Given the description of an element on the screen output the (x, y) to click on. 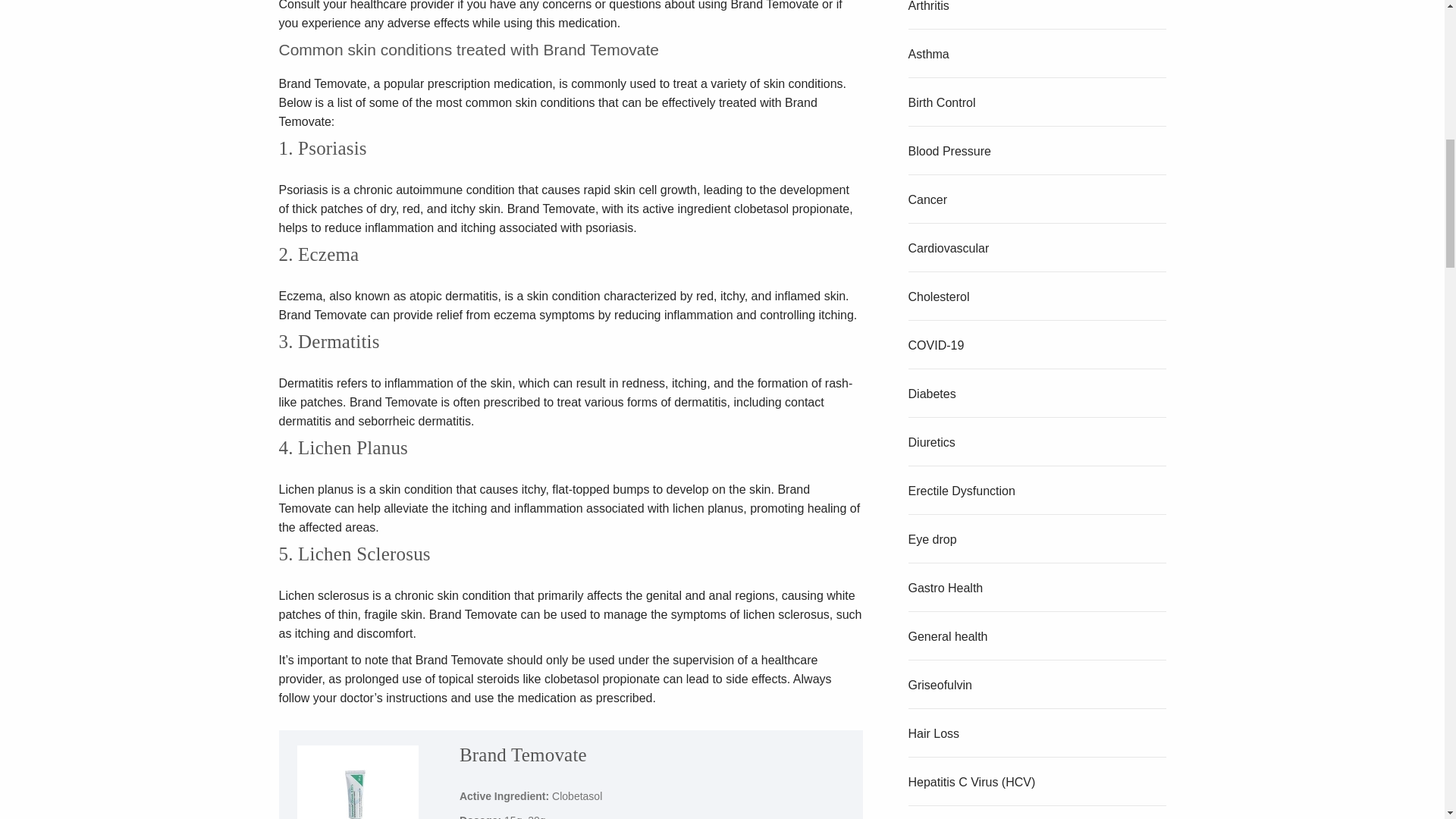
Asthma (928, 53)
Diabetes (932, 393)
Birth Control (941, 102)
Cholesterol (938, 296)
Eye drop (932, 539)
Cancer (927, 199)
Diuretics (931, 441)
Erectile Dysfunction (961, 490)
General health (948, 635)
Gastro Health (946, 587)
